Given the description of an element on the screen output the (x, y) to click on. 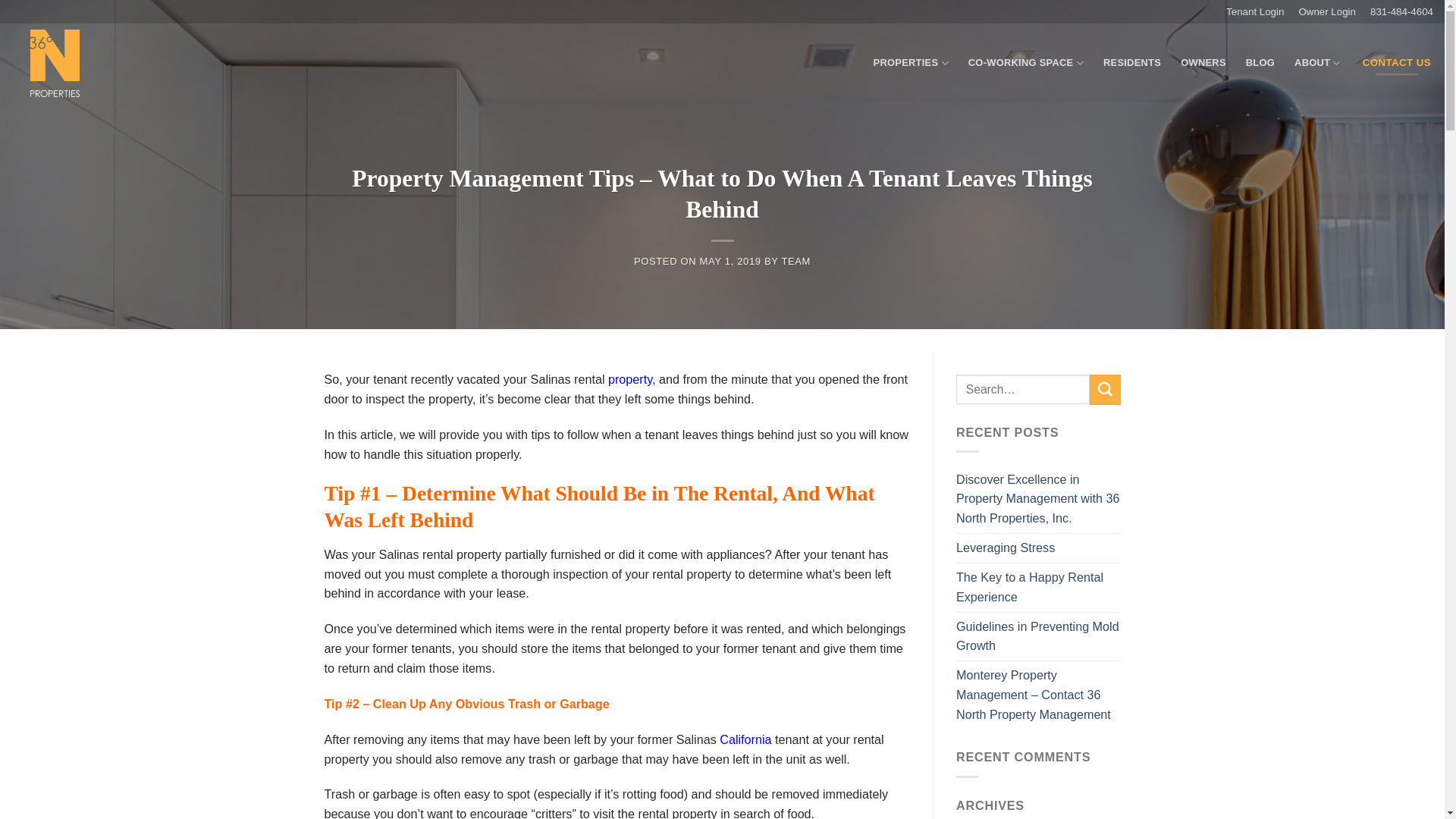
California Element type: text (745, 739)
PROPERTIES Element type: text (910, 63)
Tenant Login Element type: text (1262, 11)
Guidelines in Preventing Mold Growth Element type: text (1038, 636)
OWNERS Element type: text (1203, 62)
831-484-4604 Element type: text (1401, 11)
MAY 1, 2019 Element type: text (730, 260)
ABOUT Element type: text (1317, 63)
CONTACT US Element type: text (1396, 62)
RESIDENTS Element type: text (1132, 62)
Leveraging Stress Element type: text (1005, 547)
The Key to a Happy Rental Experience Element type: text (1038, 587)
TEAM Element type: text (795, 260)
property Element type: text (630, 378)
CO-WORKING SPACE Element type: text (1025, 63)
BLOG Element type: text (1259, 62)
Owner Login Element type: text (1334, 11)
